Given the description of an element on the screen output the (x, y) to click on. 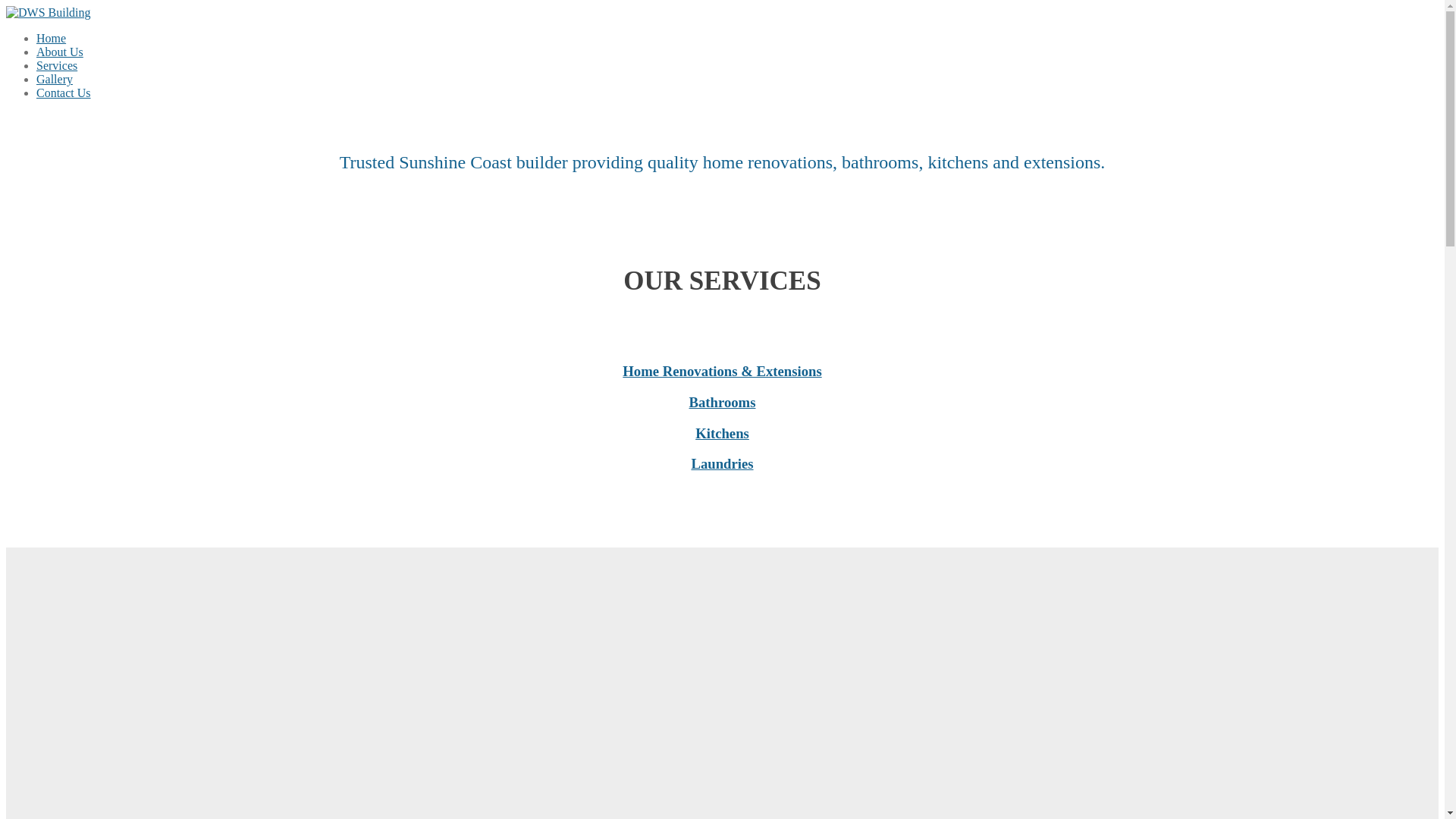
Laundries Element type: text (721, 463)
Services Element type: text (56, 65)
Contact Us Element type: text (63, 92)
Gallery Element type: text (54, 78)
Home Renovations & Extensions Element type: text (721, 371)
About Us Element type: text (59, 51)
Kitchens Element type: text (722, 433)
Bathrooms Element type: text (721, 402)
Home Element type: text (50, 37)
